Given the description of an element on the screen output the (x, y) to click on. 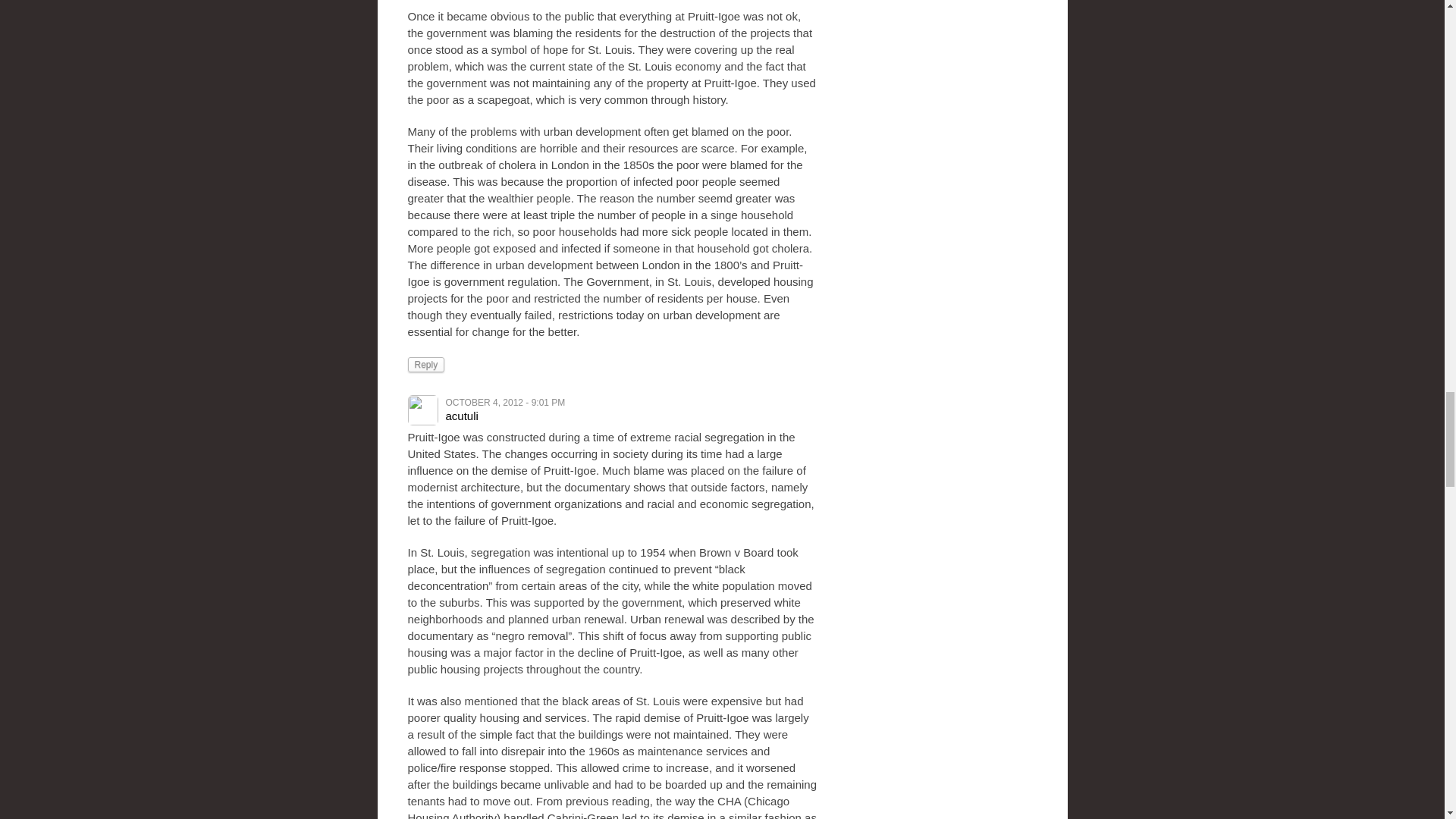
OCTOBER 4, 2012 - 9:01 PM (505, 402)
Reply (426, 364)
